Given the description of an element on the screen output the (x, y) to click on. 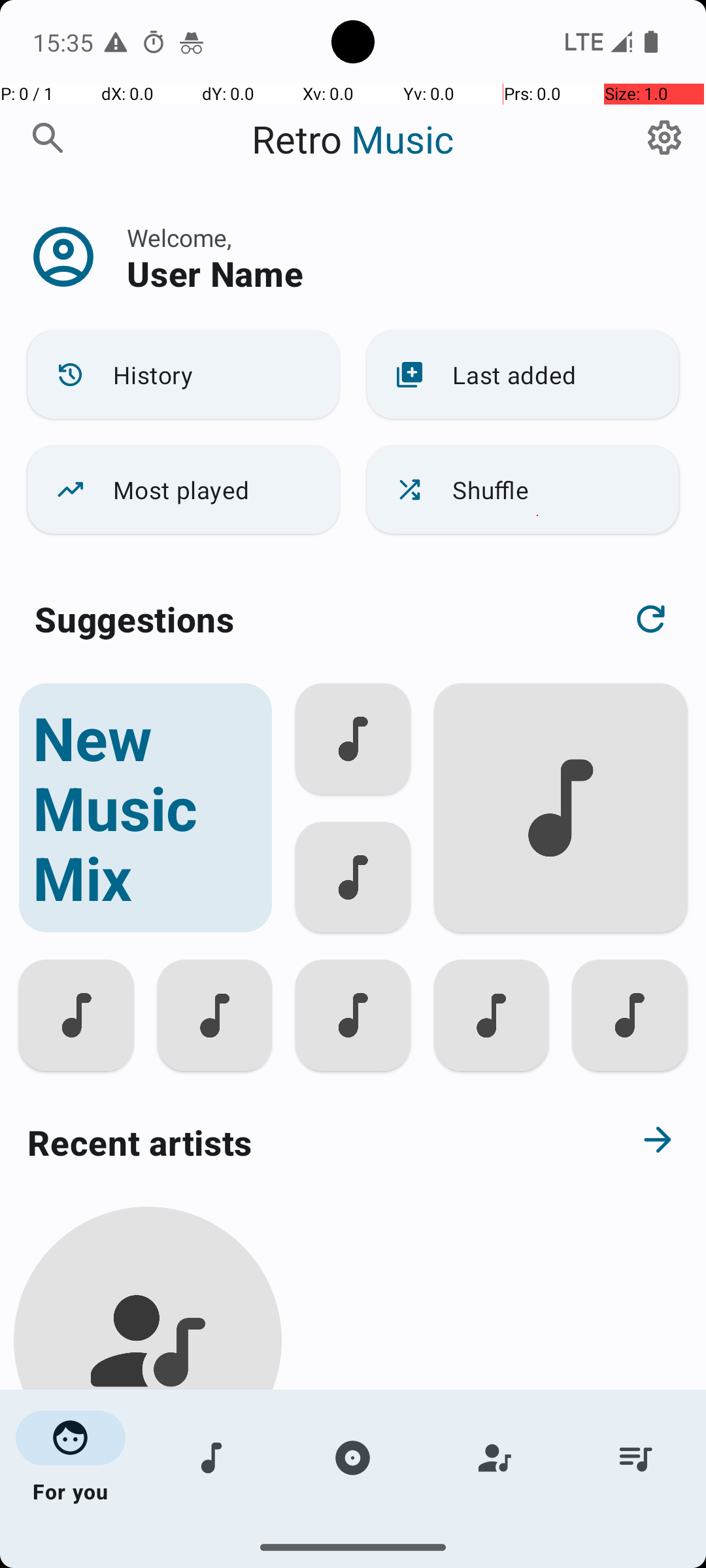
Samuel Element type: android.widget.TextView (147, 1503)
